Given the description of an element on the screen output the (x, y) to click on. 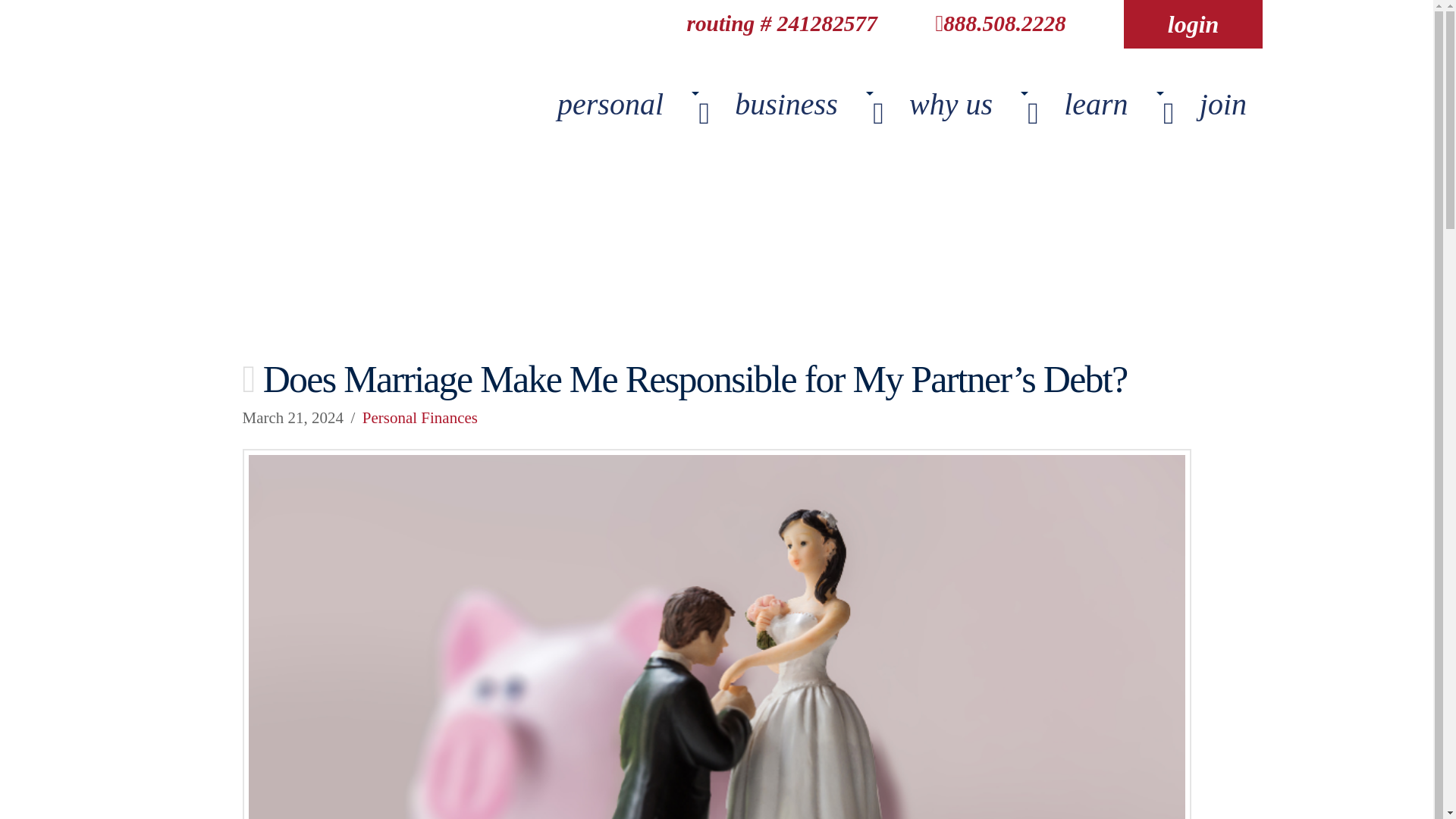
business (801, 113)
login (883, 113)
888.508.2228 (1193, 24)
personal (999, 23)
Directions Credit Union (625, 113)
